Given the description of an element on the screen output the (x, y) to click on. 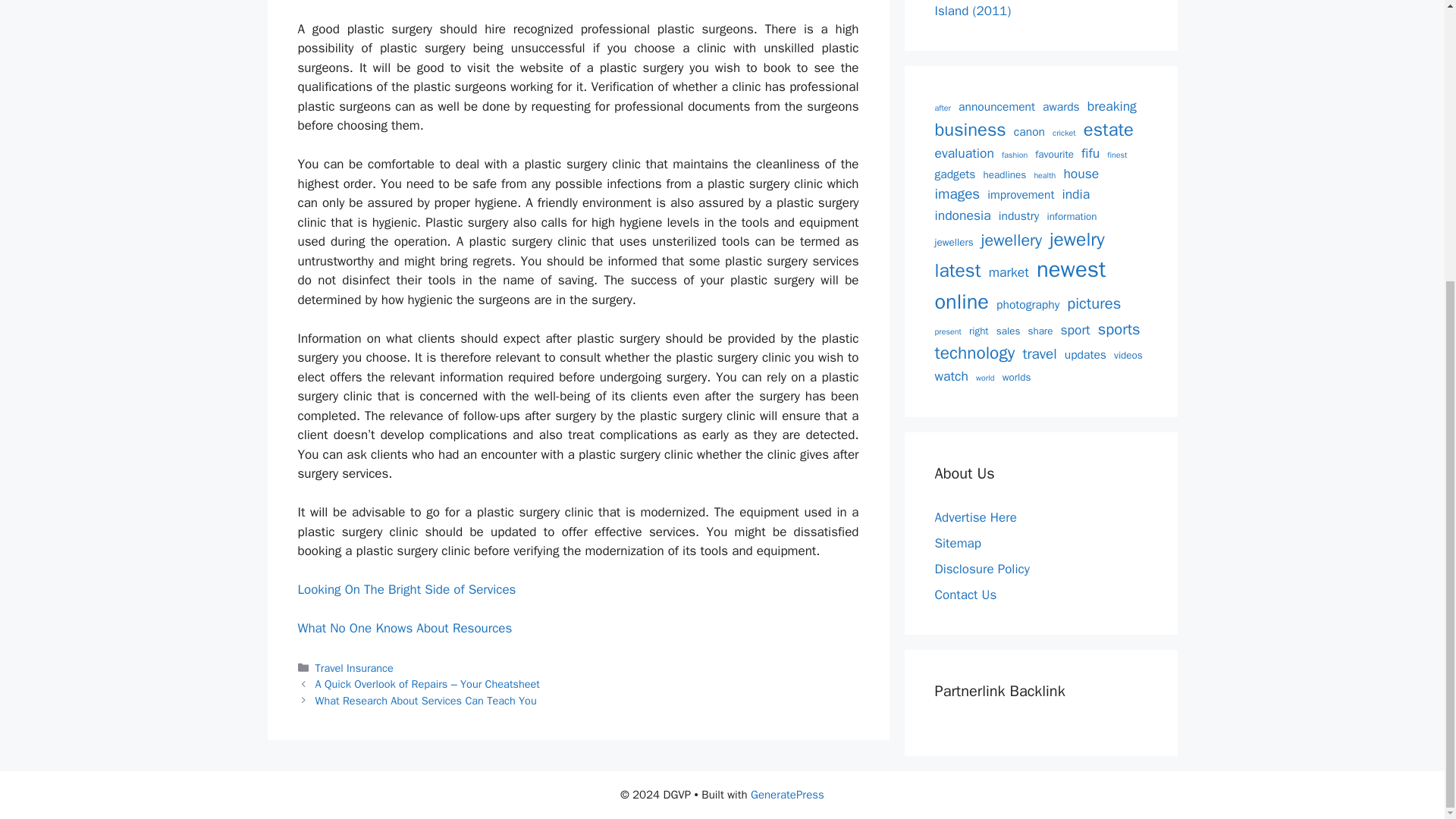
finest (1116, 155)
What Research About Services Can Teach You (426, 700)
announcement (996, 107)
after (942, 108)
business (970, 129)
awards (1061, 107)
breaking (1112, 106)
fifu (1090, 152)
Travel Insurance (354, 667)
images (956, 193)
